Given the description of an element on the screen output the (x, y) to click on. 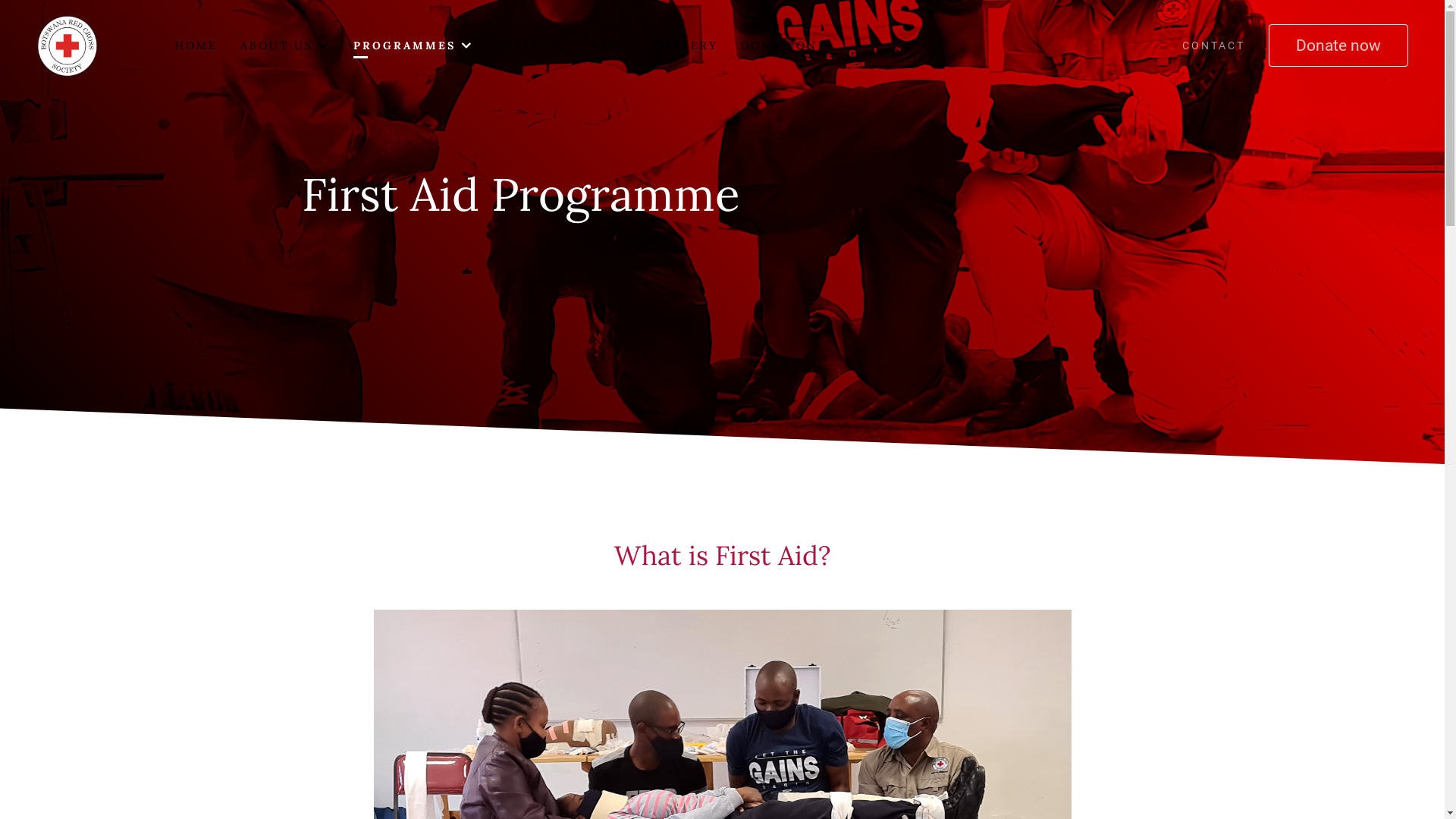
Donate now Element type: text (1338, 45)
PROGRAMMES Element type: text (413, 45)
ABOUT US Element type: text (285, 45)
NEWS Element type: text (611, 45)
CONTACT Element type: text (1213, 44)
GALLERY Element type: text (686, 45)
TRAINING Element type: text (531, 45)
DONATION Element type: text (778, 45)
HOME Element type: text (196, 45)
